Given the description of an element on the screen output the (x, y) to click on. 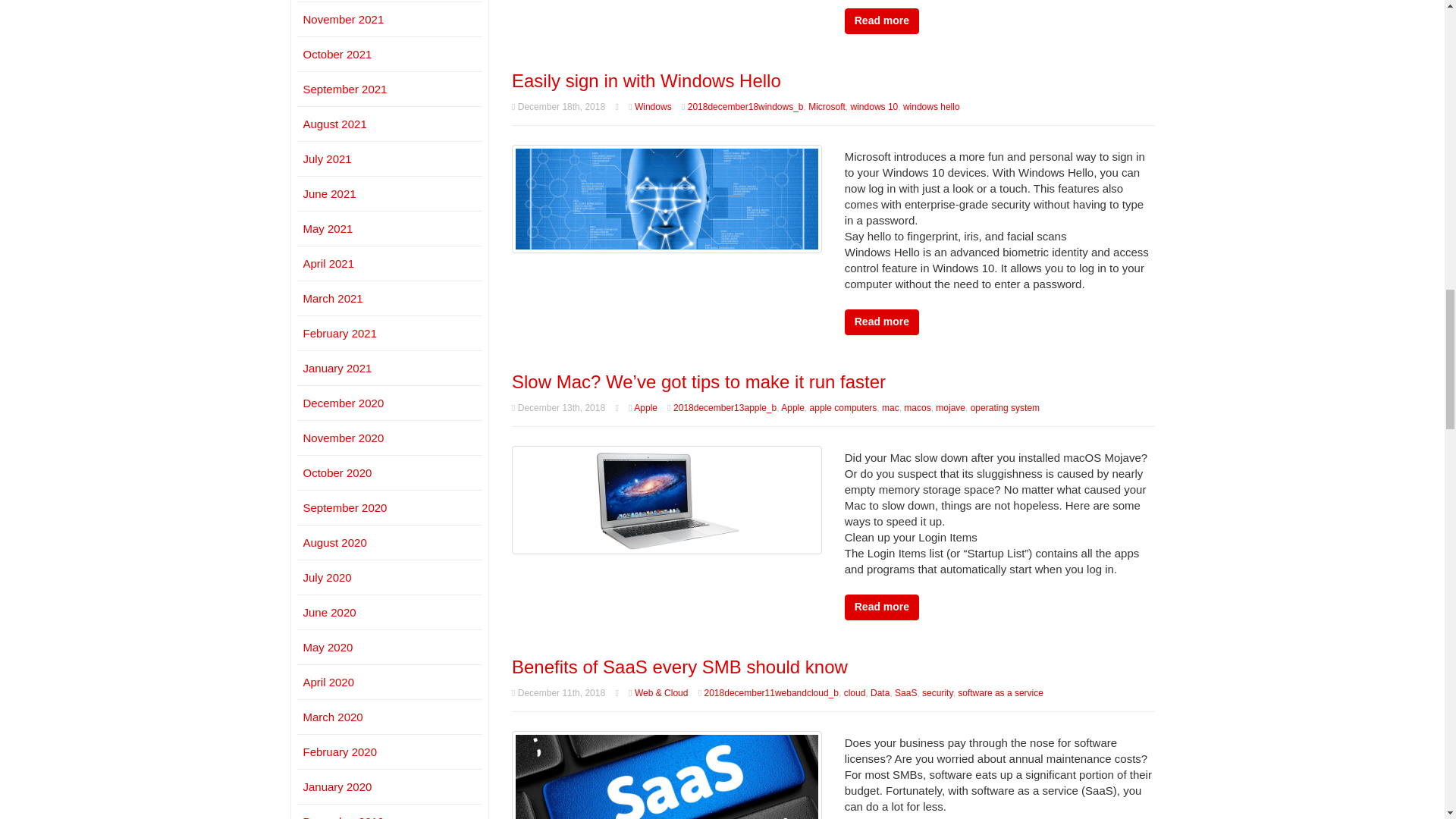
Benefits of SaaS every SMB should know (679, 666)
Easily sign in with Windows Hello (646, 80)
Easily sign in with Windows Hello (667, 197)
Benefits of SaaS every SMB should know (667, 783)
